Given the description of an element on the screen output the (x, y) to click on. 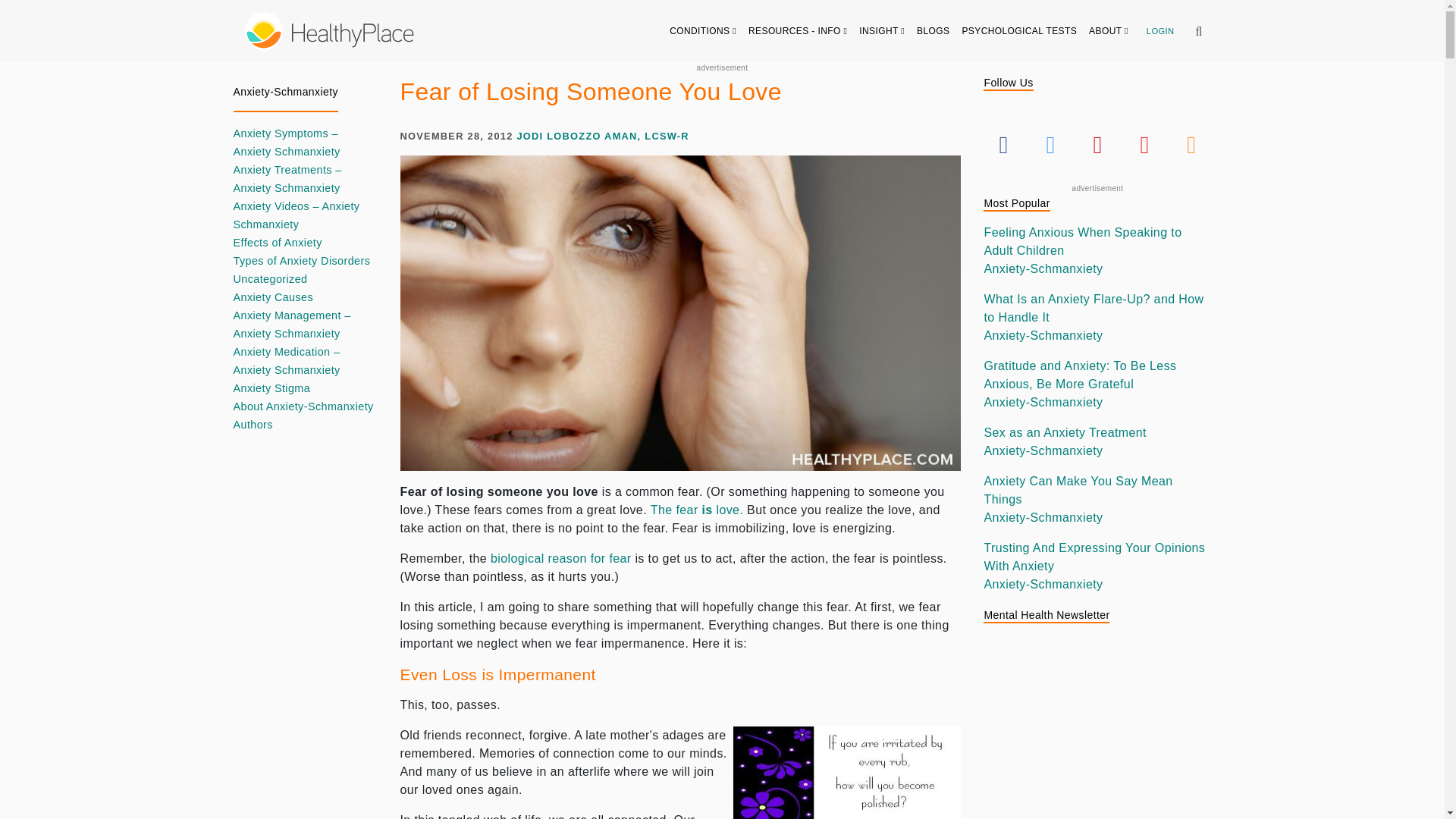
CONDITIONS (702, 31)
How to Love Instead of Worry Video (696, 509)
RESOURCES - INFO (797, 31)
INSIGHT (882, 31)
The Biology of Fear (560, 558)
